Given the description of an element on the screen output the (x, y) to click on. 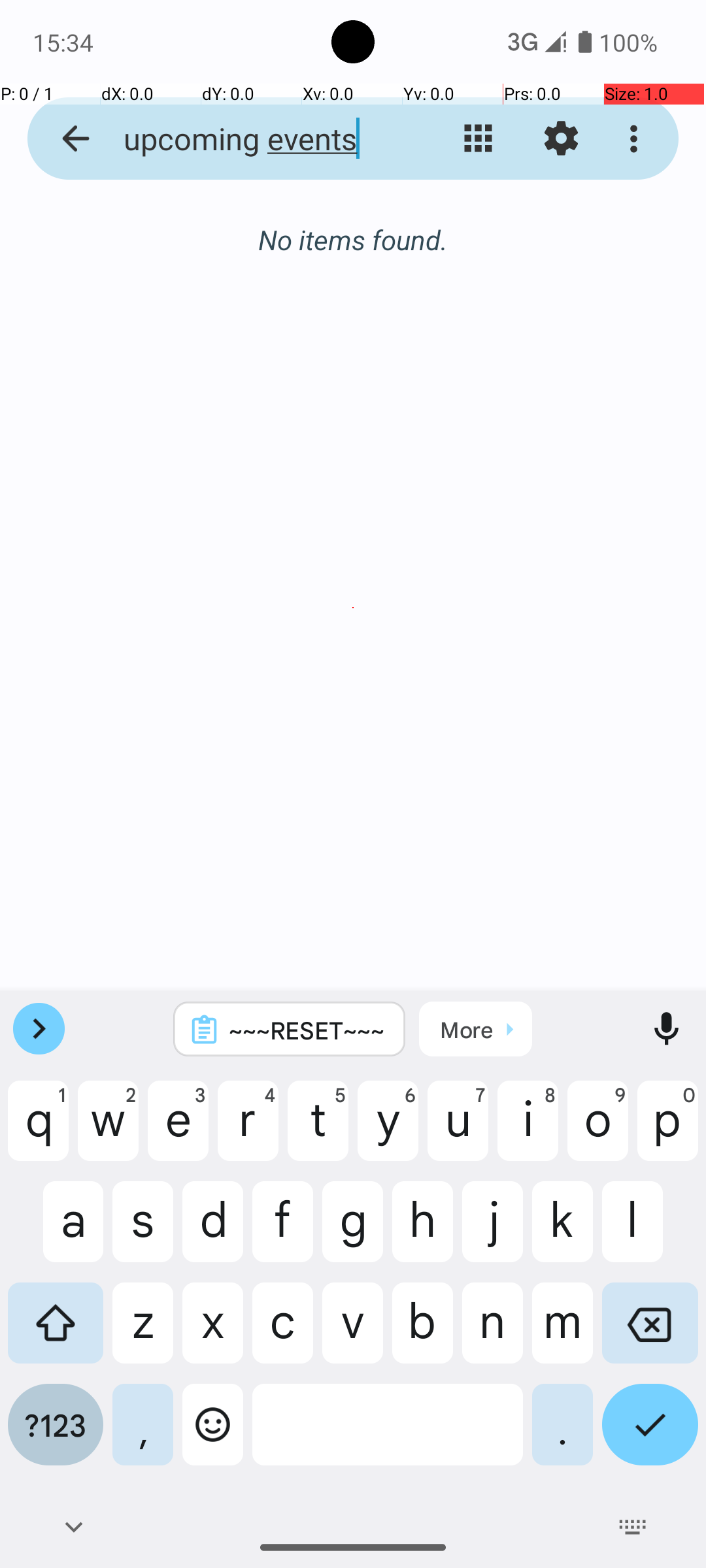
upcoming events Element type: android.widget.EditText (252, 138)
